Given the description of an element on the screen output the (x, y) to click on. 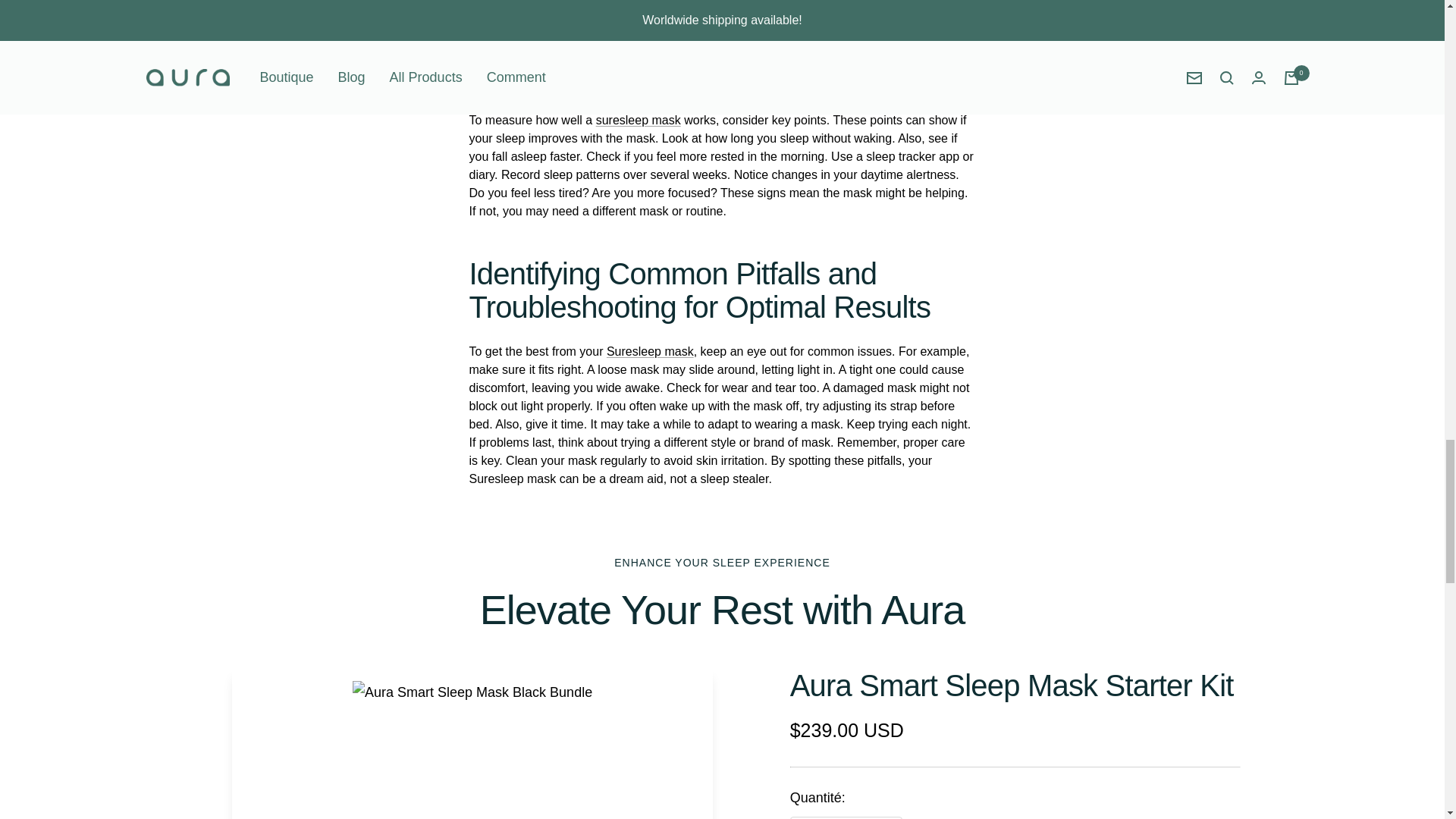
1 (845, 818)
suresleep mask (638, 119)
Suresleep mask (650, 350)
